Given the description of an element on the screen output the (x, y) to click on. 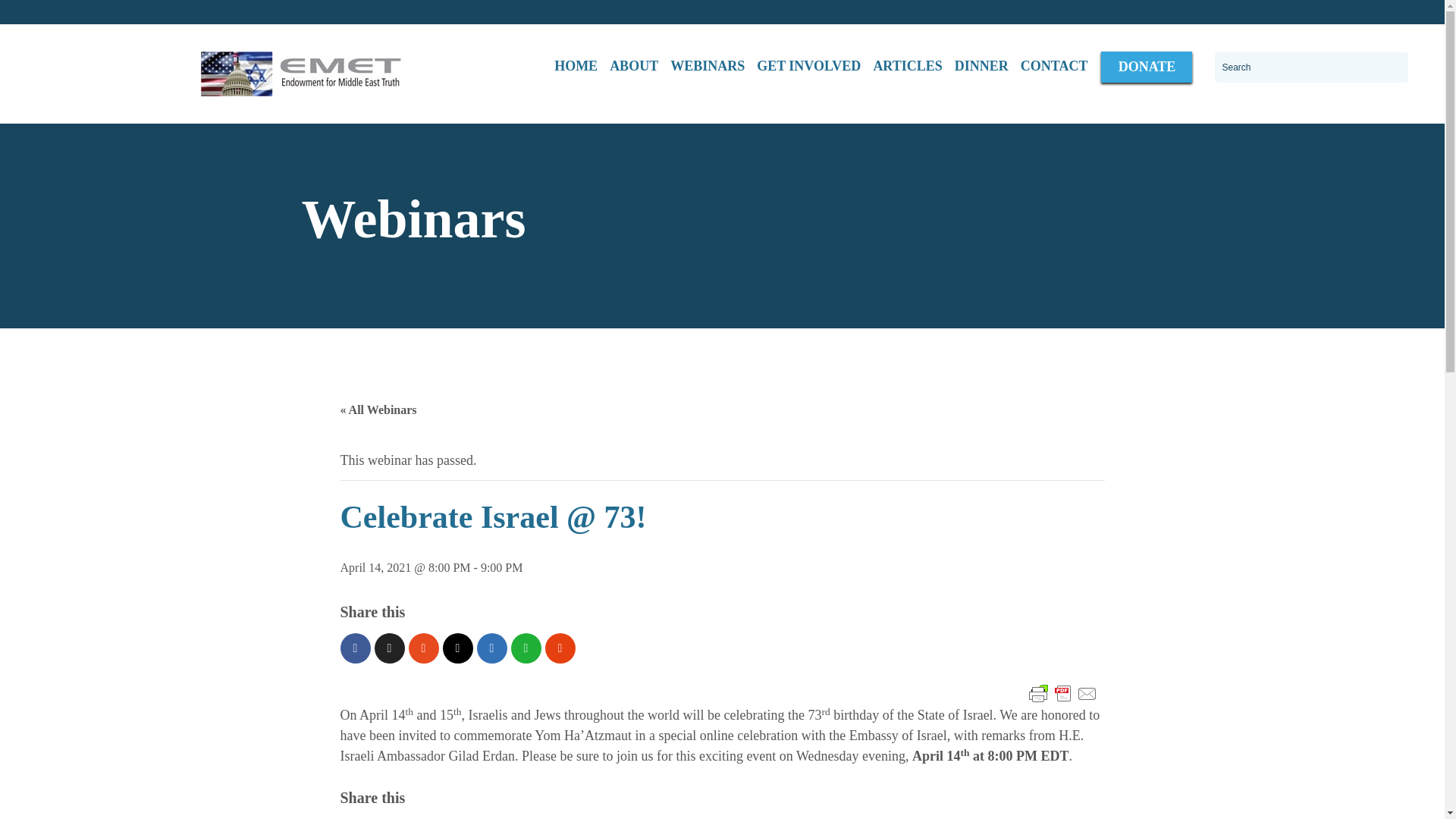
DONATE (1146, 66)
Search for: (1310, 67)
HOME (576, 66)
WEBINARS (707, 66)
GET INVOLVED (808, 66)
ARTICLES (906, 66)
DINNER (981, 66)
ABOUT (633, 66)
CONTACT (1054, 66)
